Given the description of an element on the screen output the (x, y) to click on. 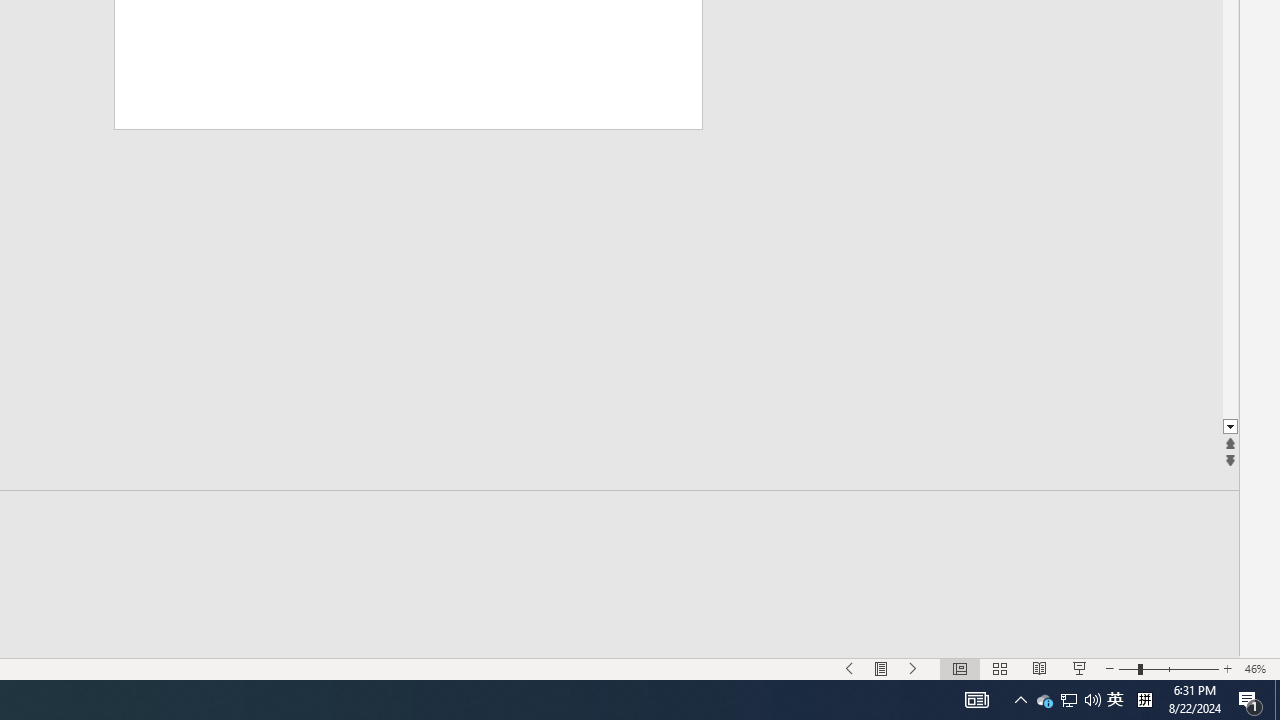
Show desktop (1277, 699)
User Promoted Notification Area (1068, 699)
Slide Show Previous On (850, 668)
AutomationID: 4105 (1044, 699)
Notification Chevron (1069, 699)
